Given the description of an element on the screen output the (x, y) to click on. 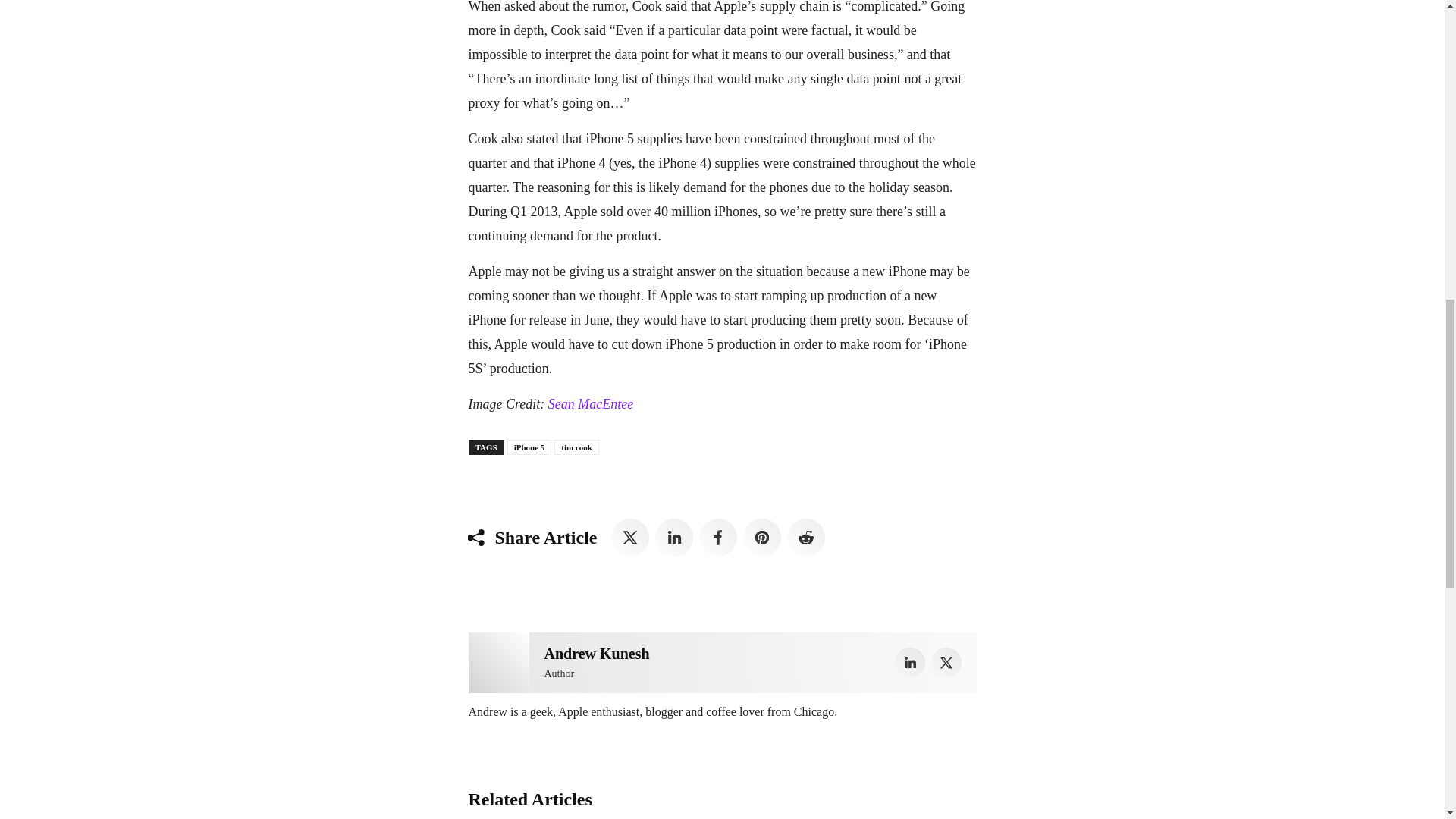
Twitter (630, 537)
iPhone 5 (528, 447)
ReddIt (806, 537)
Twitter (945, 662)
Andrew Kunesh (498, 662)
Linkedin (909, 662)
tim cook (576, 447)
Andrew Kunesh (596, 653)
Pinterest (761, 537)
Sean MacEntee (590, 403)
Facebook (717, 537)
Linkedin (674, 537)
